Given the description of an element on the screen output the (x, y) to click on. 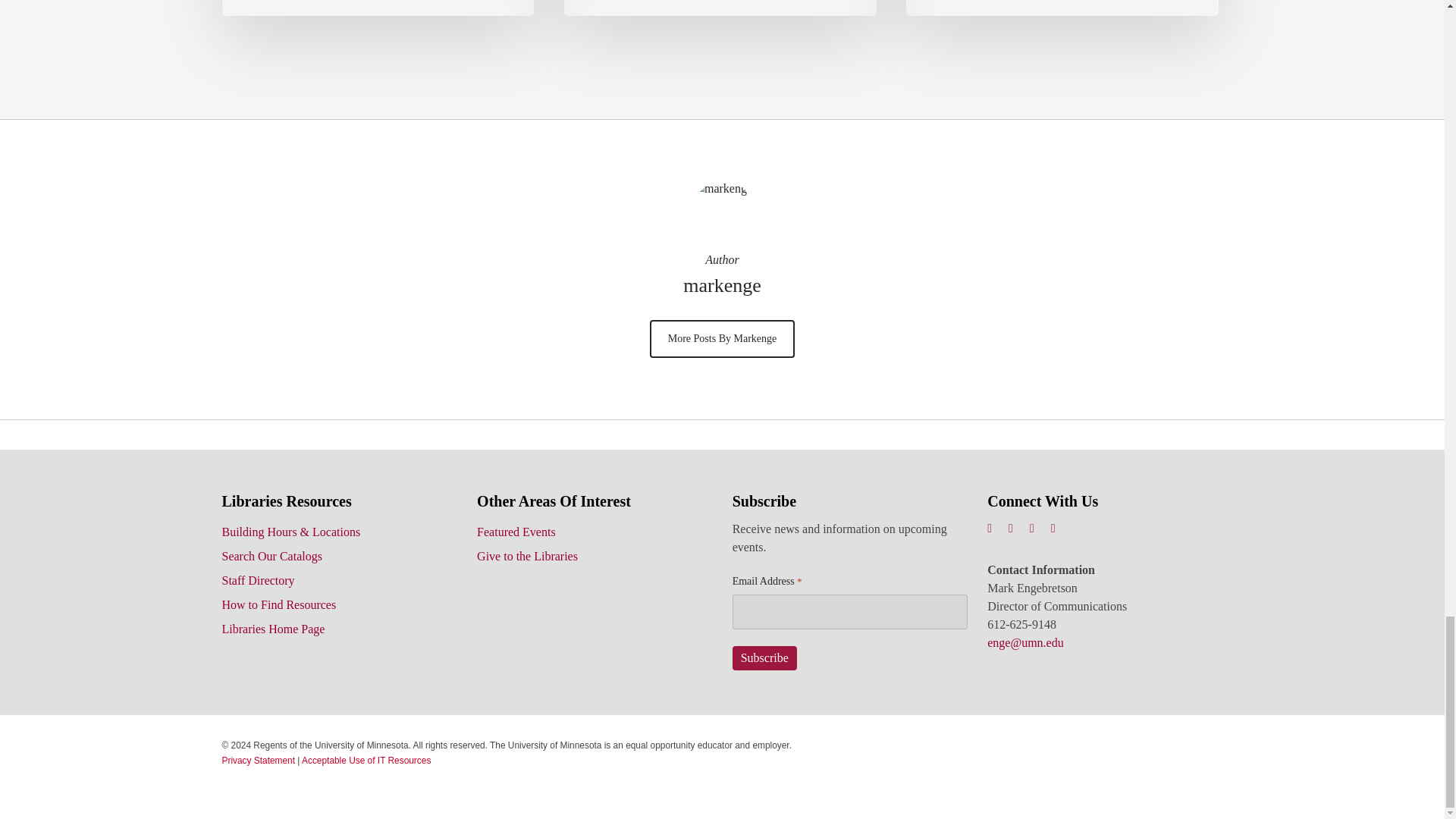
Subscribe (764, 658)
